Given the description of an element on the screen output the (x, y) to click on. 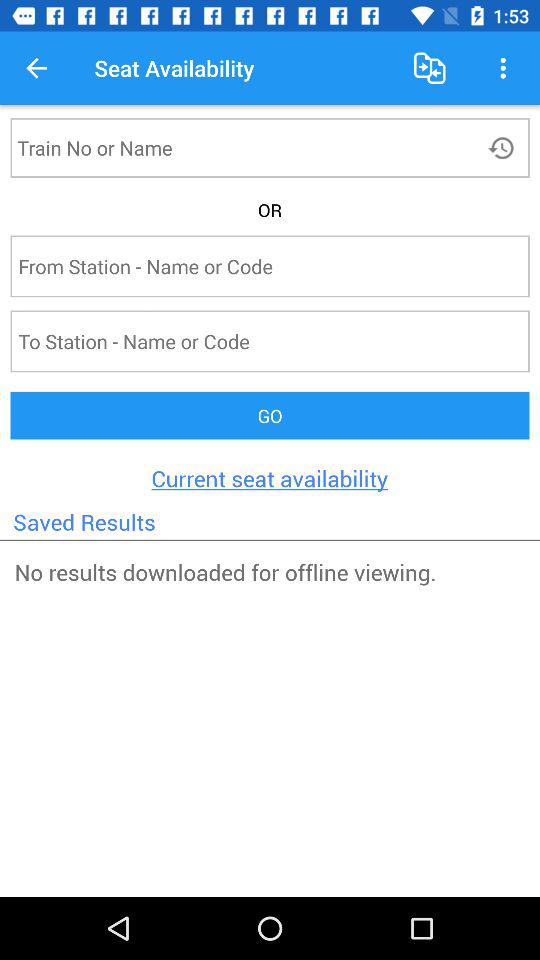
input text data (233, 147)
